Given the description of an element on the screen output the (x, y) to click on. 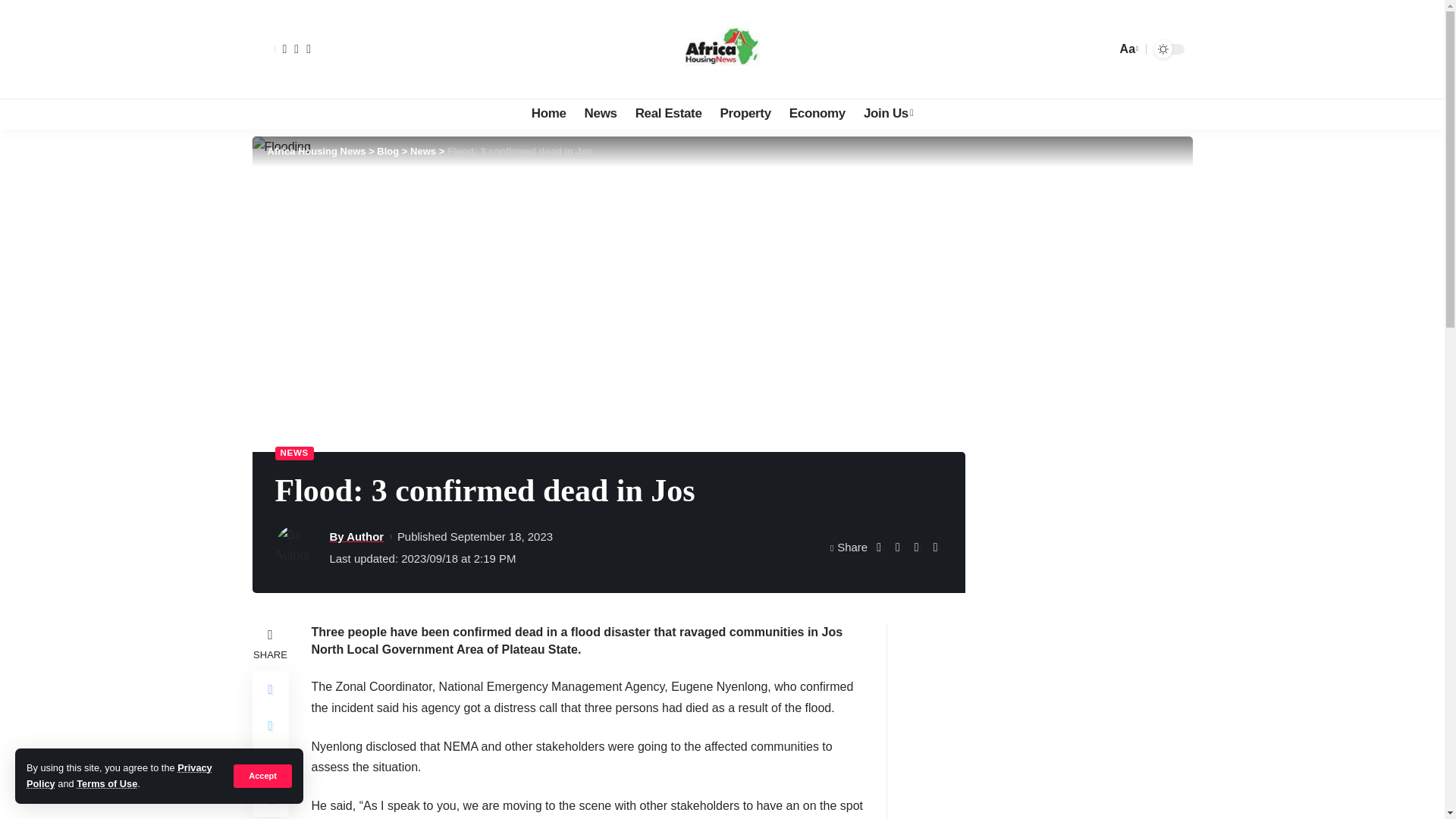
Join Us (887, 113)
Economy (817, 113)
Africa Housing News (722, 48)
Accept (262, 775)
Real Estate (668, 113)
Privacy Policy (119, 775)
Property (745, 113)
News (600, 113)
Home (548, 113)
Go to Blog. (387, 151)
